Given the description of an element on the screen output the (x, y) to click on. 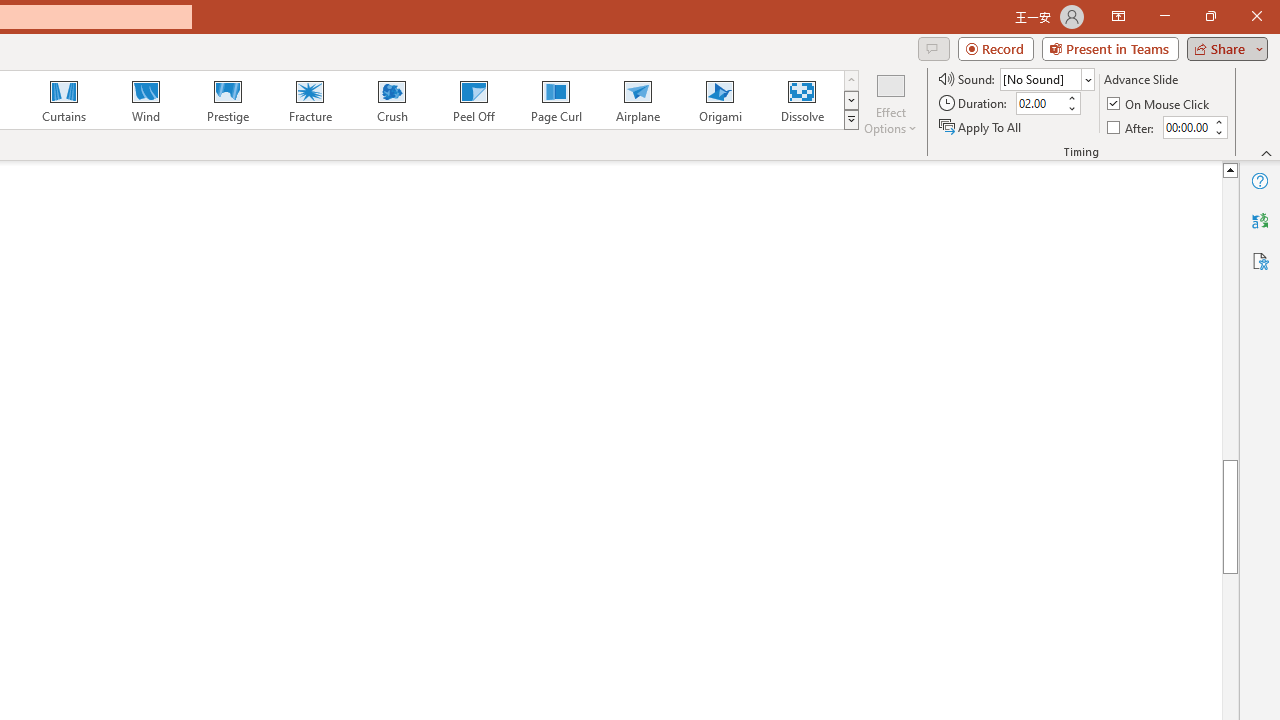
Origami (719, 100)
On Mouse Click (1159, 103)
Effect Options (890, 102)
Transition Effects (850, 120)
